Given the description of an element on the screen output the (x, y) to click on. 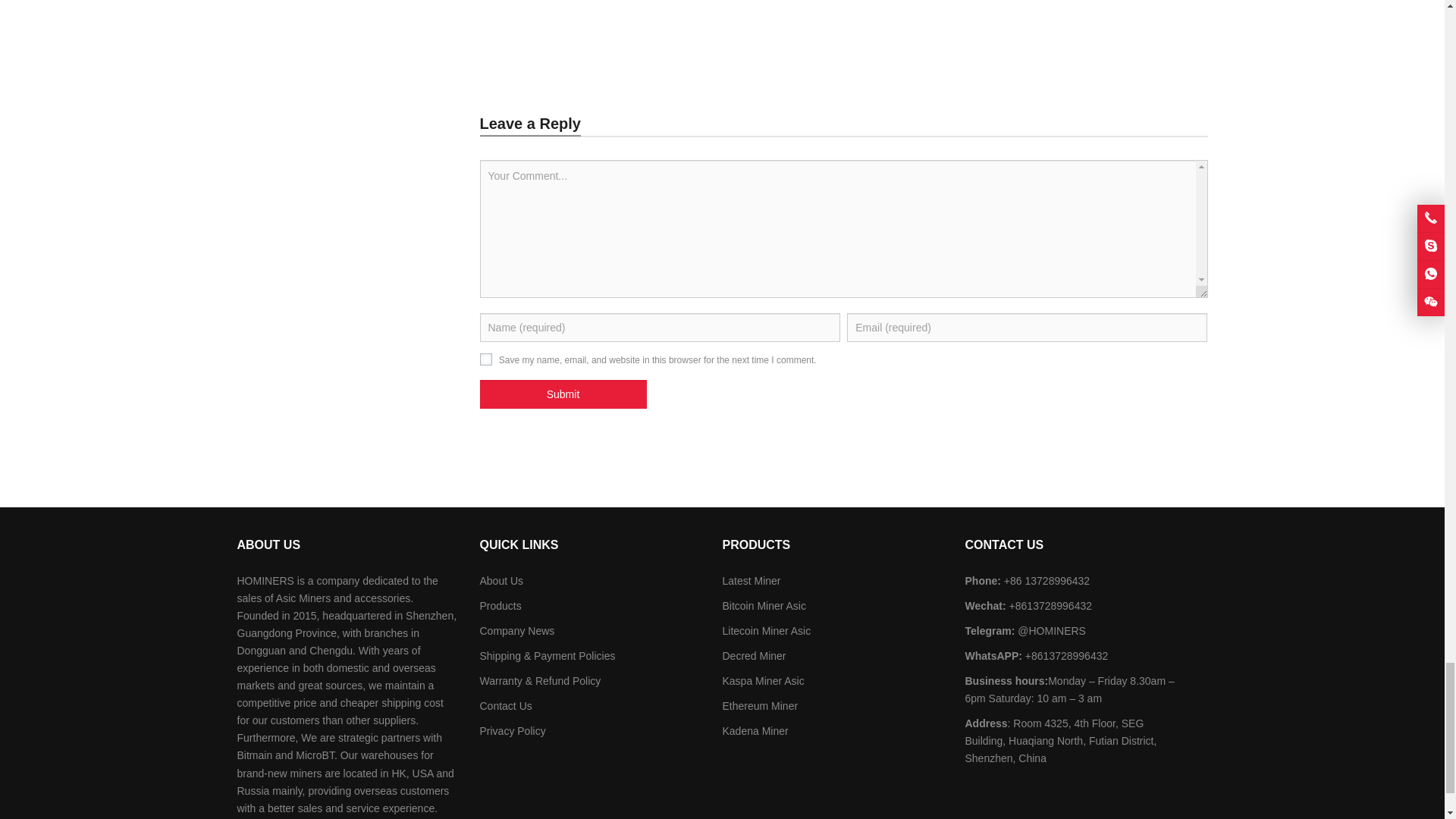
Submit (562, 394)
yes (485, 358)
